Given the description of an element on the screen output the (x, y) to click on. 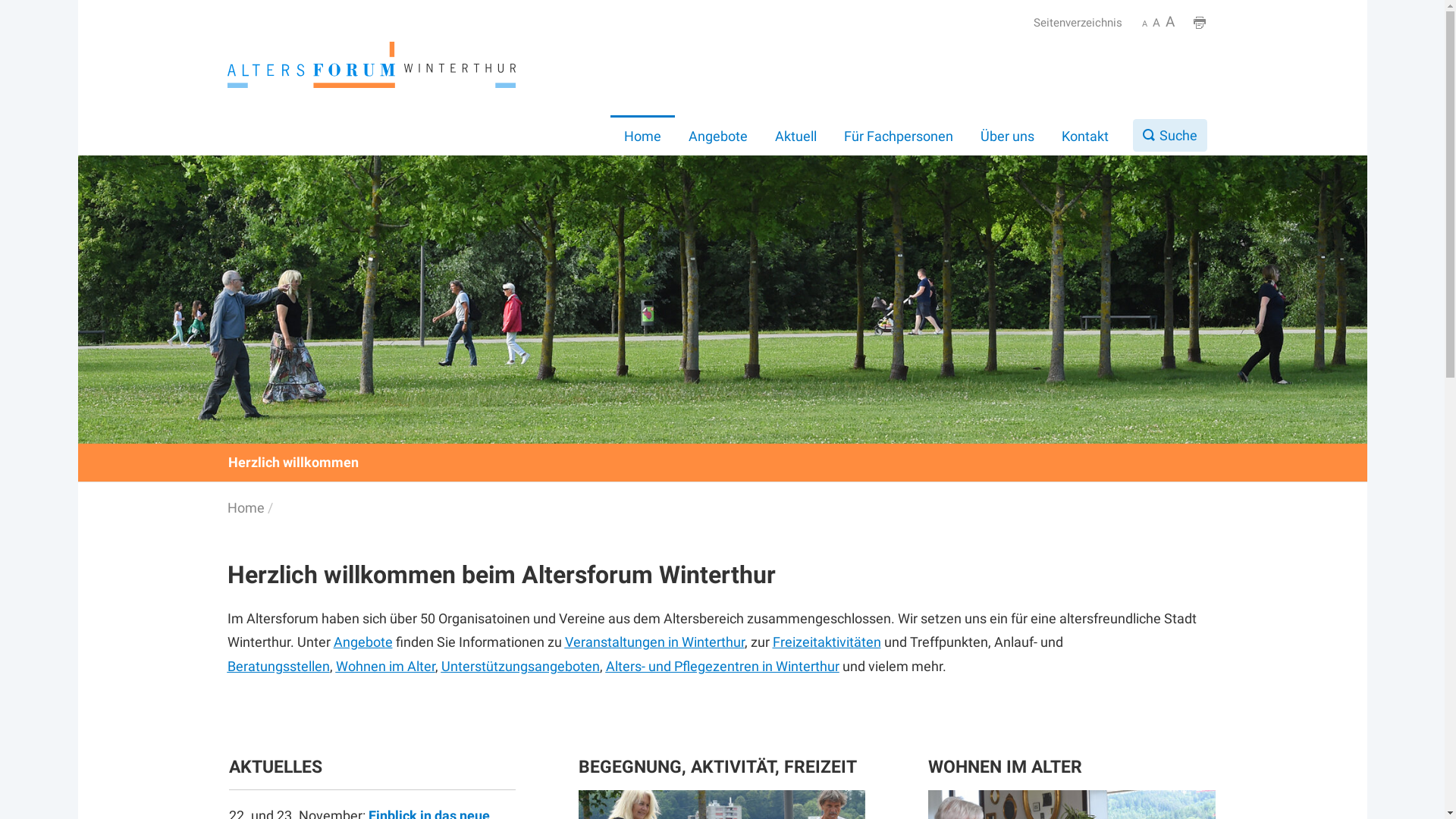
Suche Element type: text (1169, 134)
Veranstaltungen in Winterthur Element type: text (653, 641)
Aktuell Element type: text (795, 135)
Seitenverzeichnis Element type: text (1078, 23)
Angebote Element type: text (717, 135)
A Element type: text (1144, 24)
A Element type: text (1169, 21)
Wohnen im Alter Element type: text (384, 666)
Kontakt Element type: text (1085, 135)
Beratungsstellen Element type: text (278, 666)
Home Element type: text (642, 135)
Angebote Element type: text (362, 641)
A Element type: text (1155, 23)
Home Element type: text (251, 507)
Alters- und Pflegezentren in Winterthur Element type: text (721, 666)
